Given the description of an element on the screen output the (x, y) to click on. 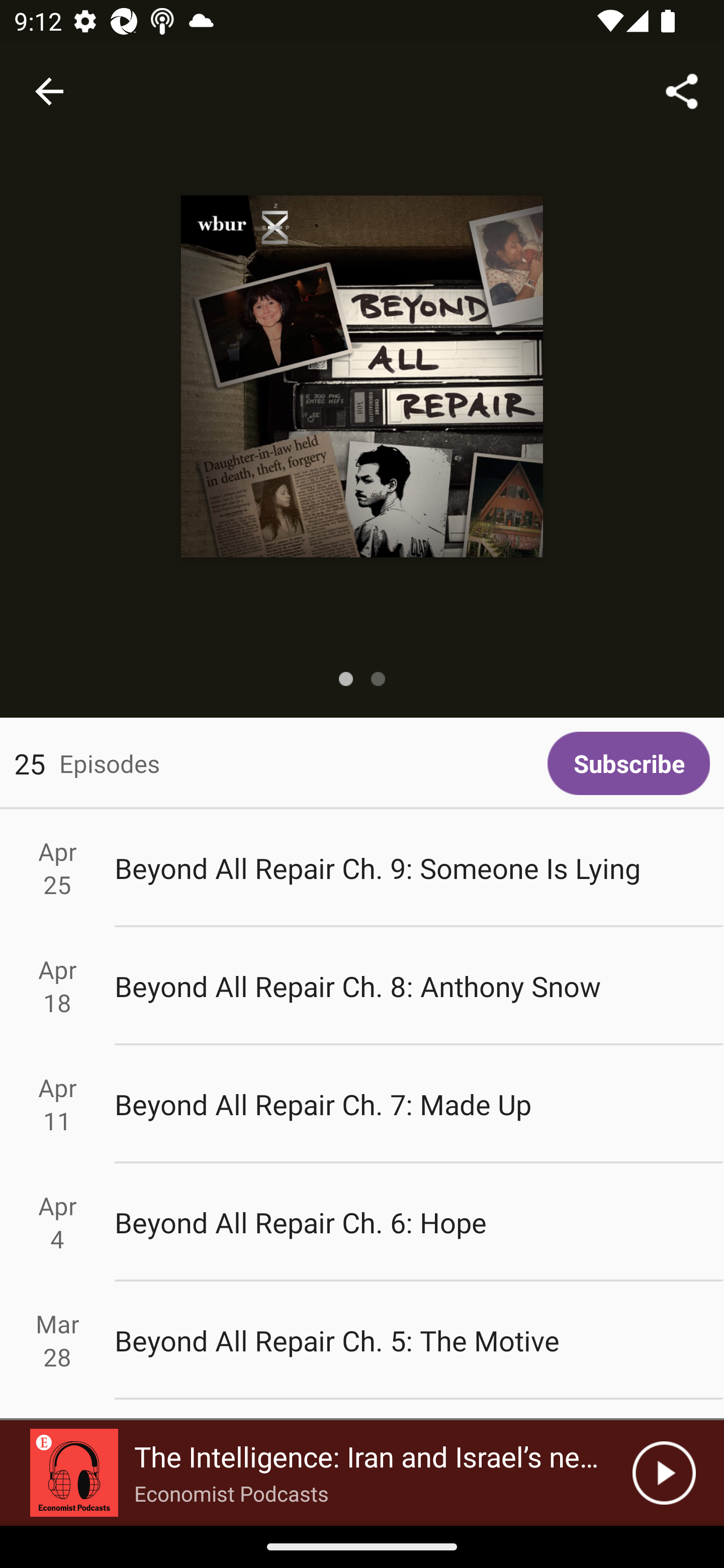
Navigate up (49, 91)
Share... (681, 90)
Subscribe (628, 763)
Apr 25 Beyond All Repair Ch. 9: Someone Is Lying (362, 867)
Apr 18 Beyond All Repair Ch. 8: Anthony Snow (362, 985)
Apr 11 Beyond All Repair Ch. 7: Made Up (362, 1104)
Apr 4 Beyond All Repair Ch. 6: Hope (362, 1222)
Mar 28 Beyond All Repair Ch. 5: The Motive (362, 1340)
Play (663, 1472)
